Given the description of an element on the screen output the (x, y) to click on. 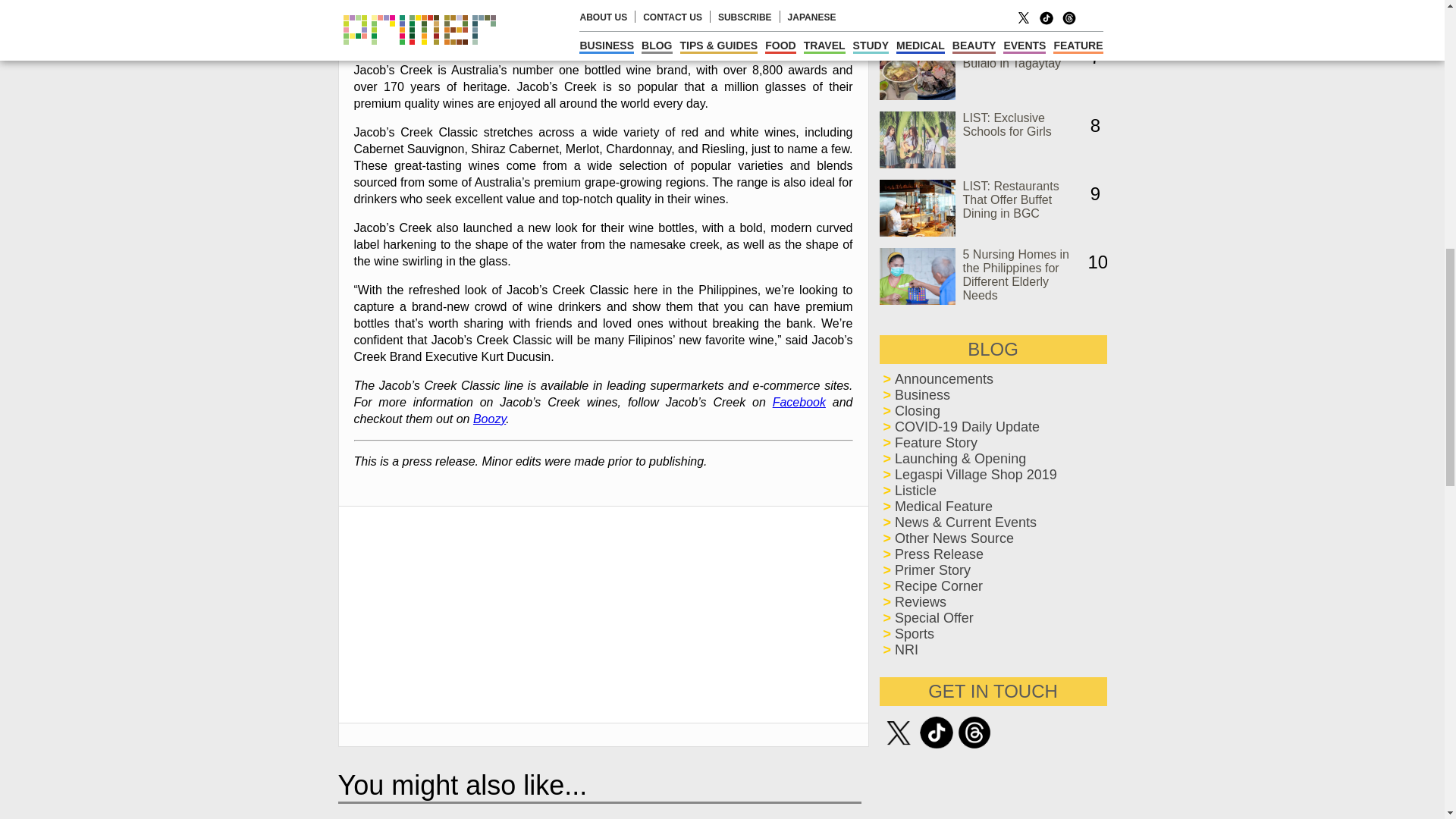
Facebook (799, 401)
Boozy (489, 418)
